Given the description of an element on the screen output the (x, y) to click on. 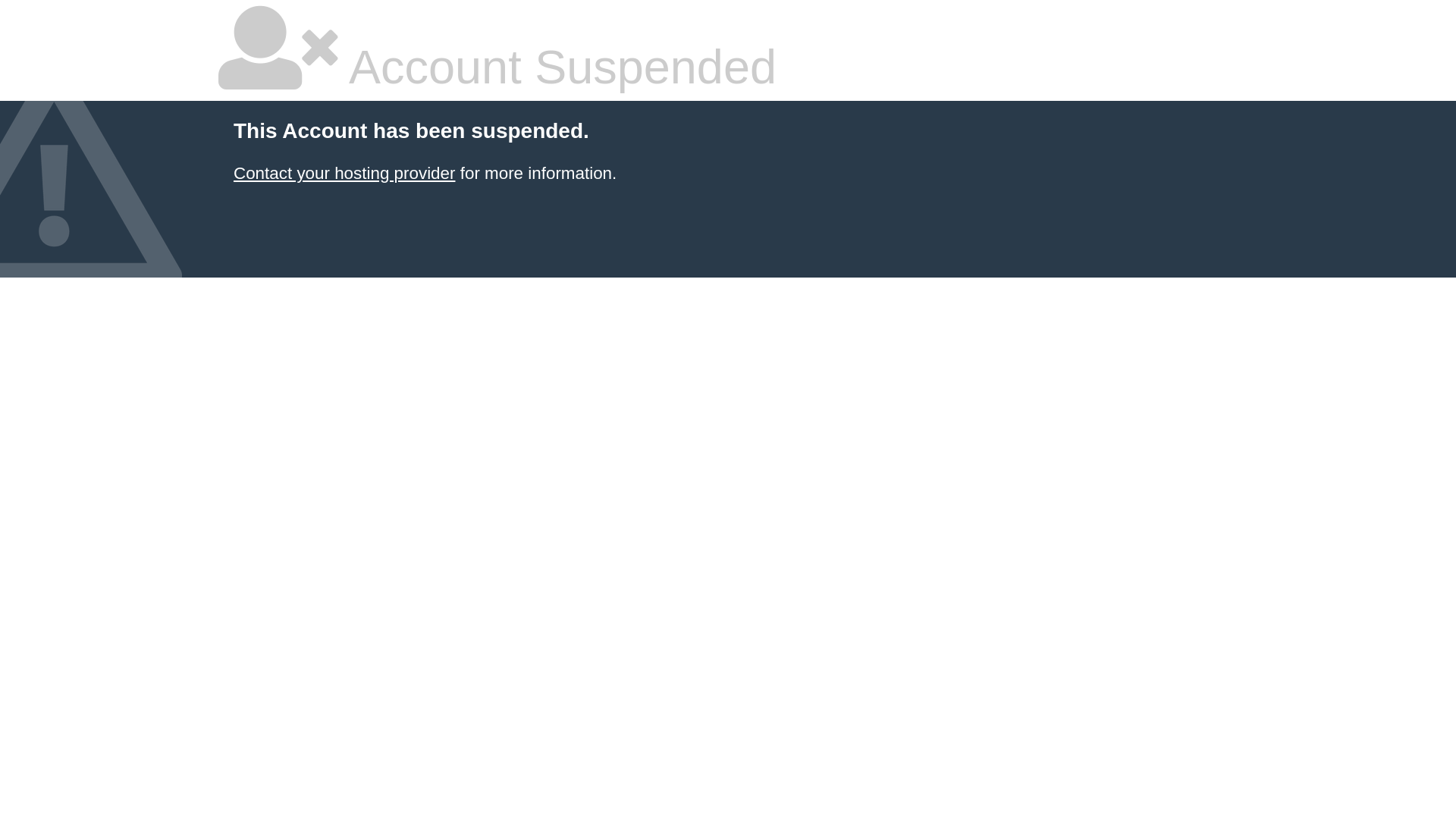
Contact your hosting provider Element type: text (344, 172)
